Given the description of an element on the screen output the (x, y) to click on. 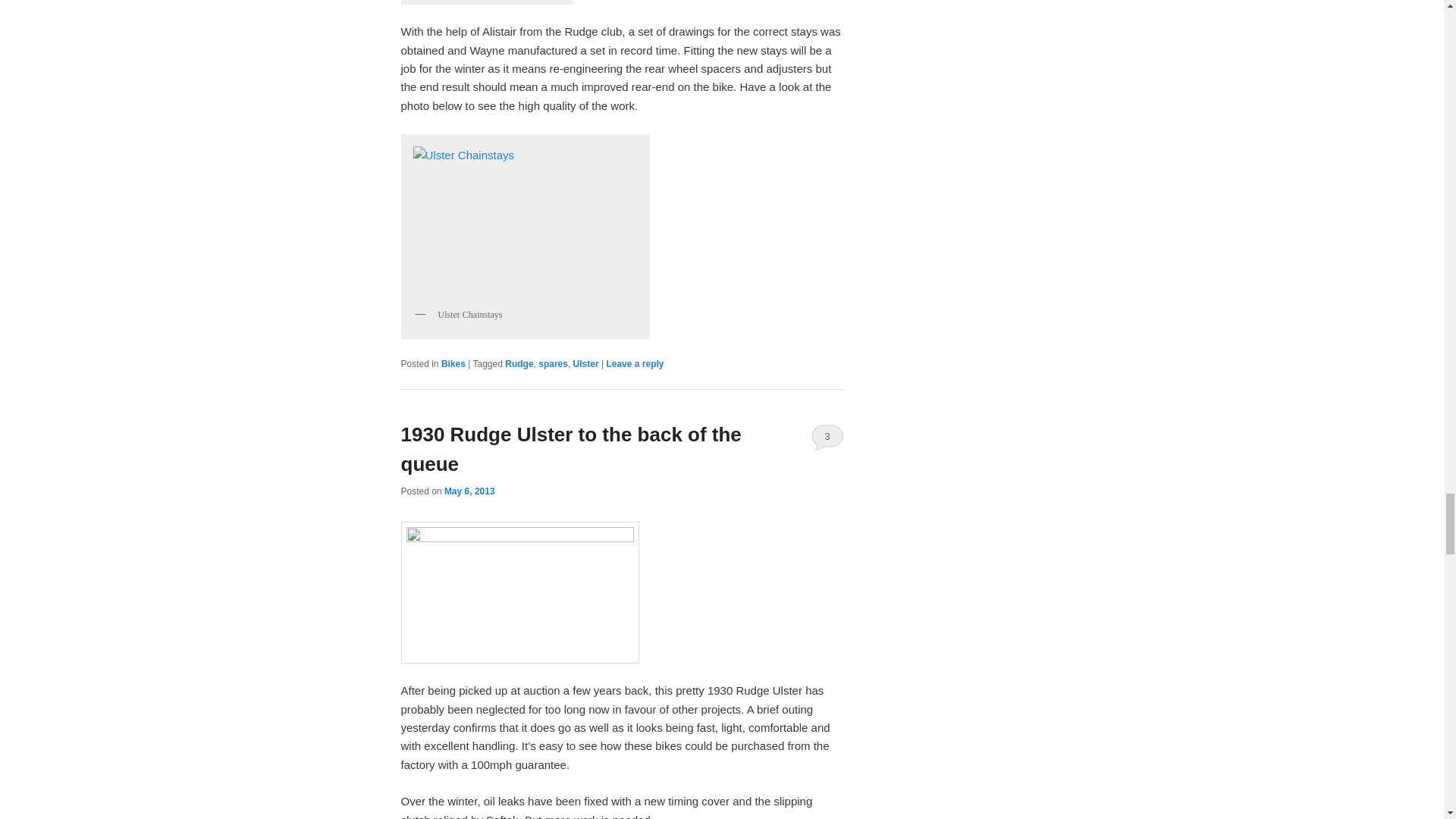
11:01 am (469, 491)
